Given the description of an element on the screen output the (x, y) to click on. 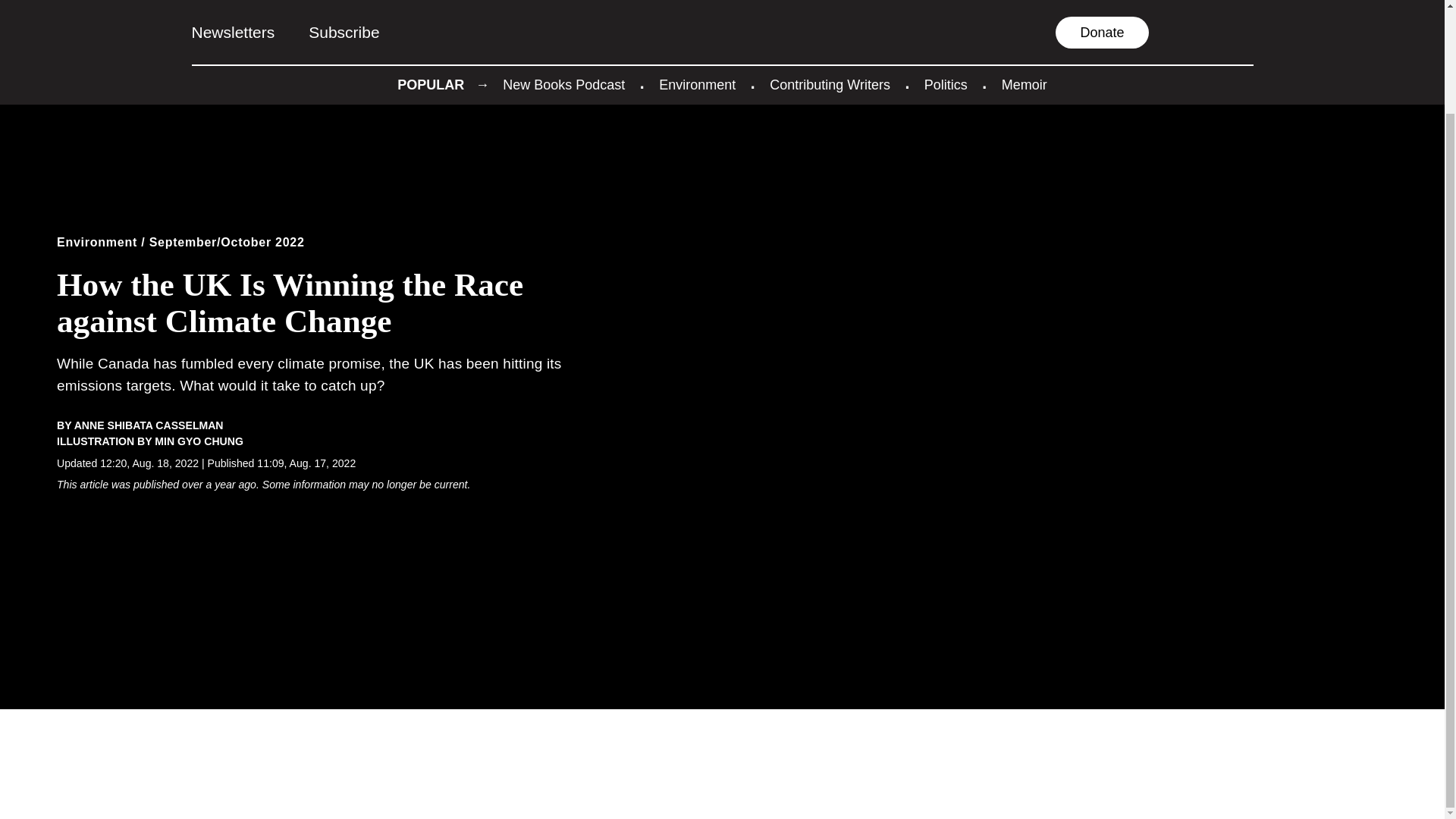
Posts by Anne Shibata Casselman (149, 425)
